Given the description of an element on the screen output the (x, y) to click on. 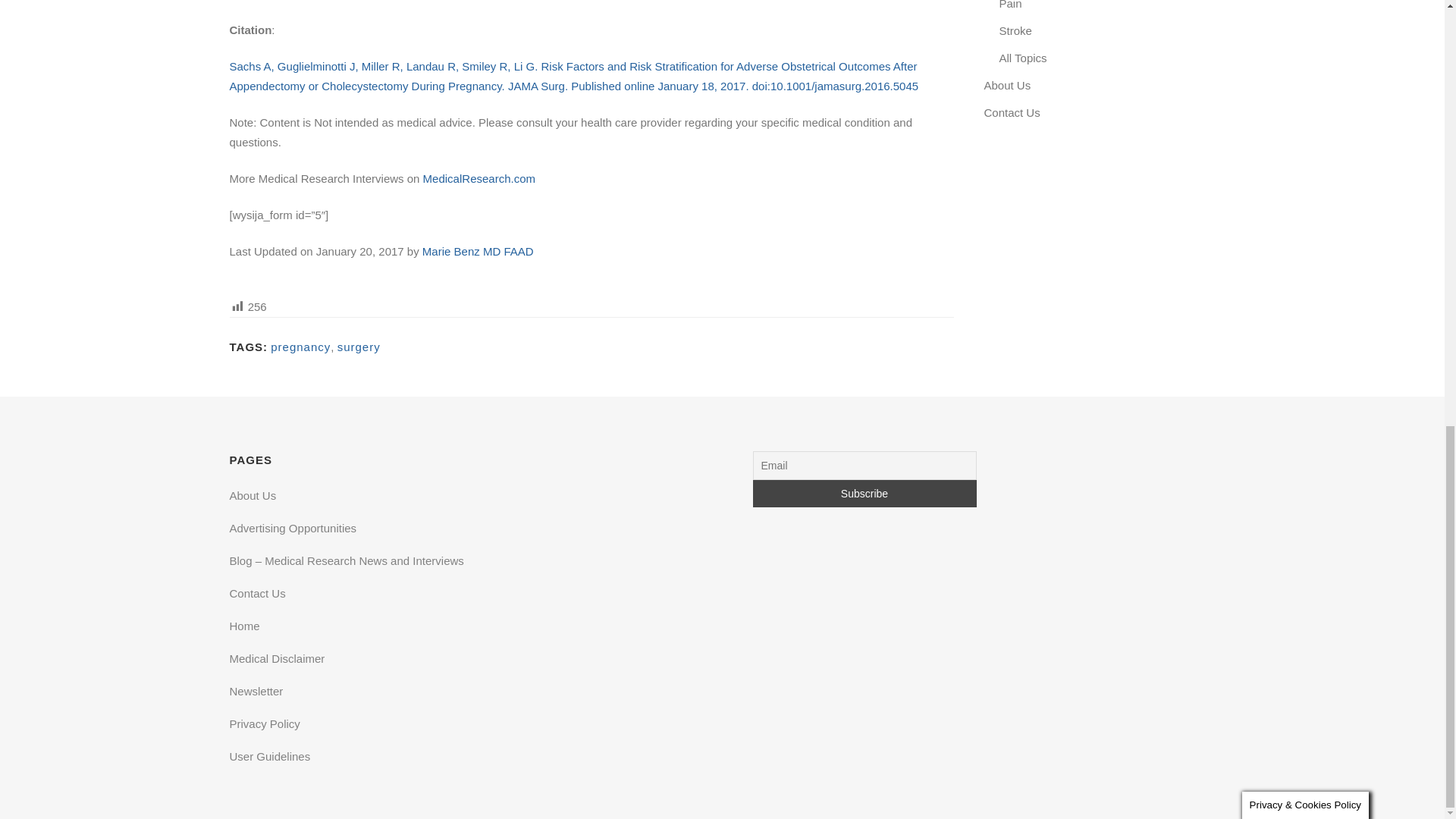
Subscribe (863, 492)
